Given the description of an element on the screen output the (x, y) to click on. 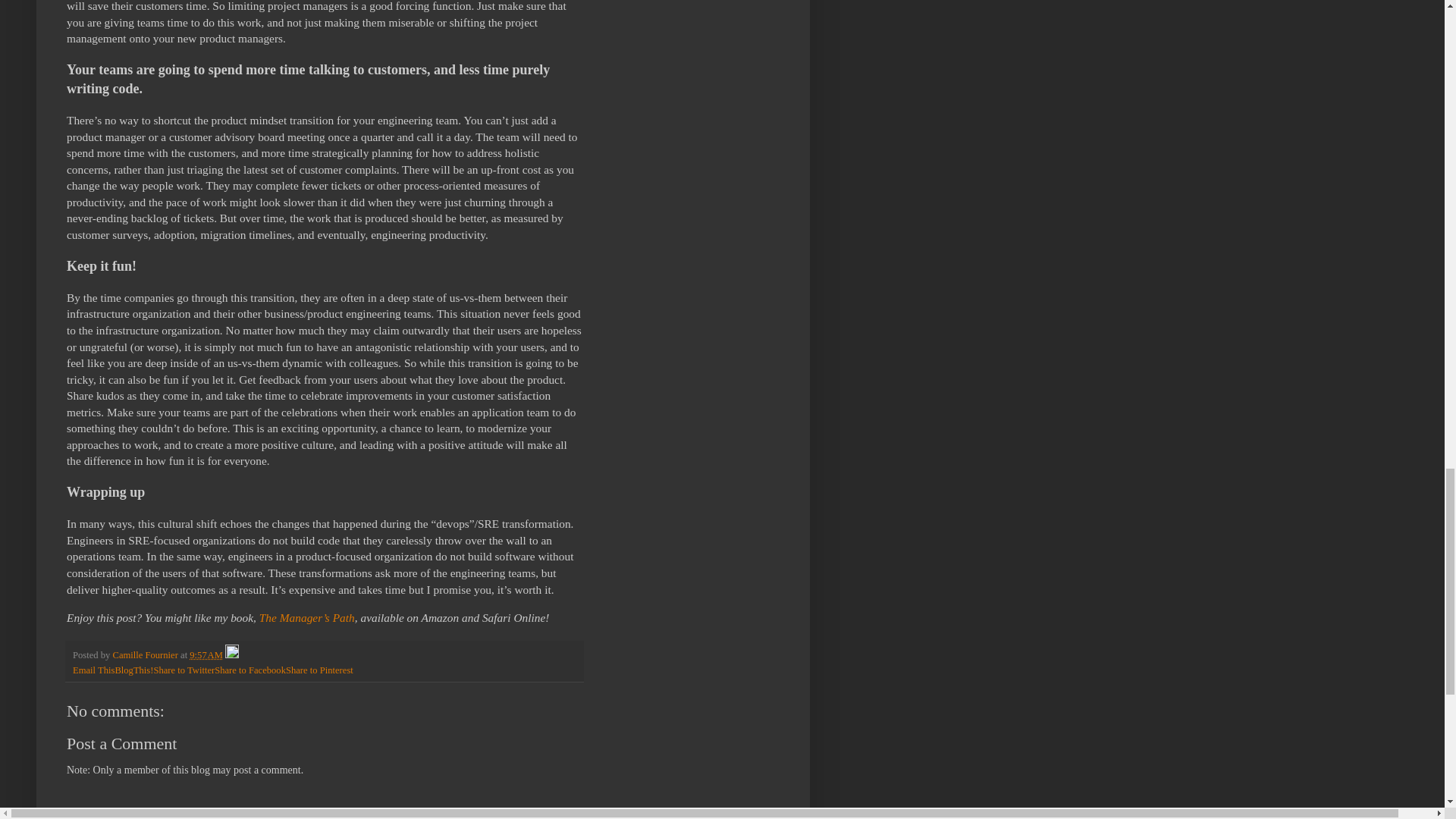
Share to Twitter (183, 670)
Share to Pinterest (319, 670)
Share to Facebook (249, 670)
Edit Post (231, 655)
permanent link (205, 655)
Camille Fournier (146, 655)
Email This (93, 670)
Share to Facebook (249, 670)
Share to Pinterest (319, 670)
